Given the description of an element on the screen output the (x, y) to click on. 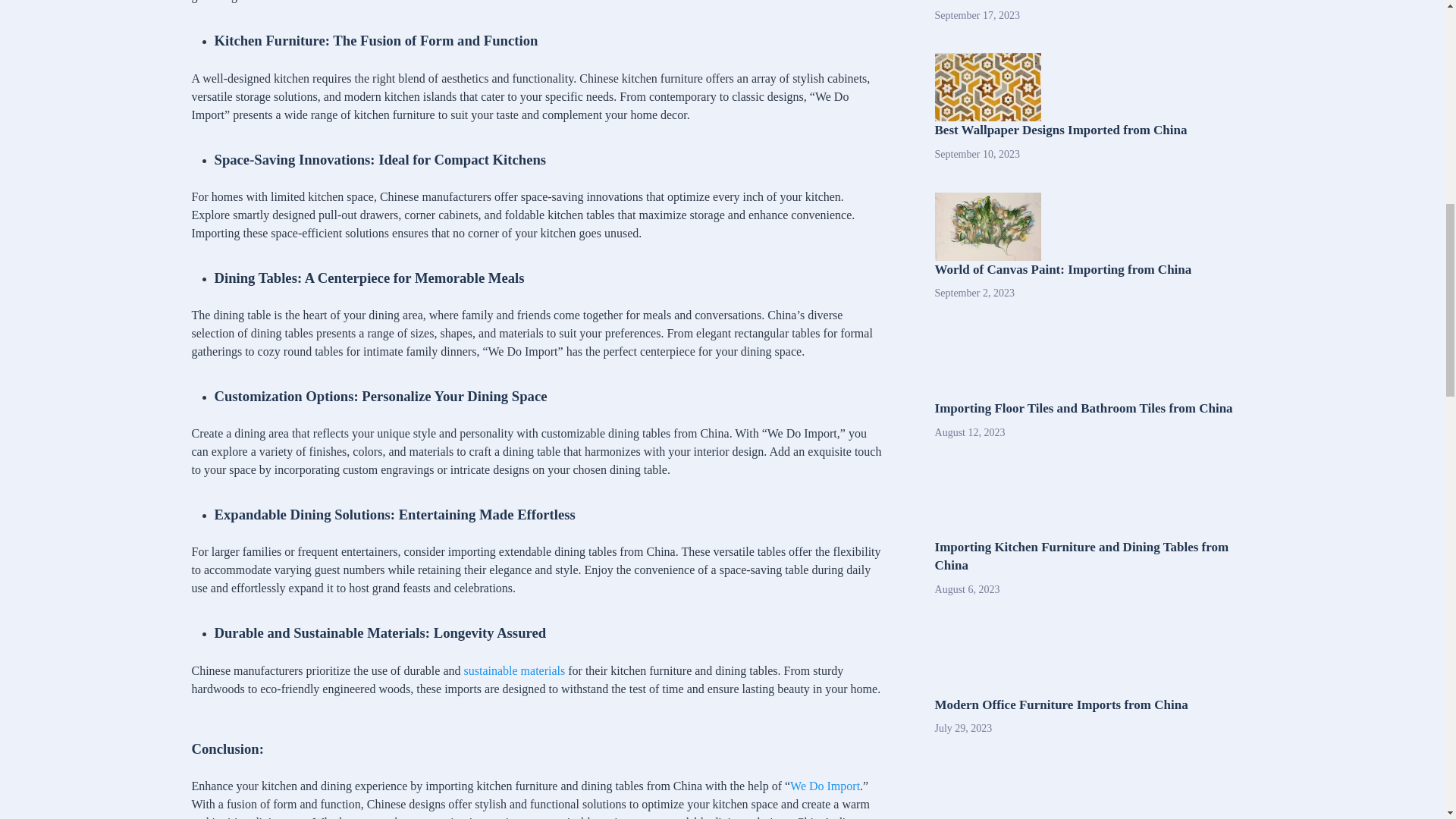
Importing Kitchen Furniture and Dining Tables from China 7 (987, 226)
Importing Kitchen Furniture and Dining Tables from China 8 (987, 365)
Importing Kitchen Furniture and Dining Tables from China 6 (987, 87)
Importing Kitchen Furniture and Dining Tables from China 9 (987, 504)
Importing Kitchen Furniture and Dining Tables from China 10 (987, 662)
